Given the description of an element on the screen output the (x, y) to click on. 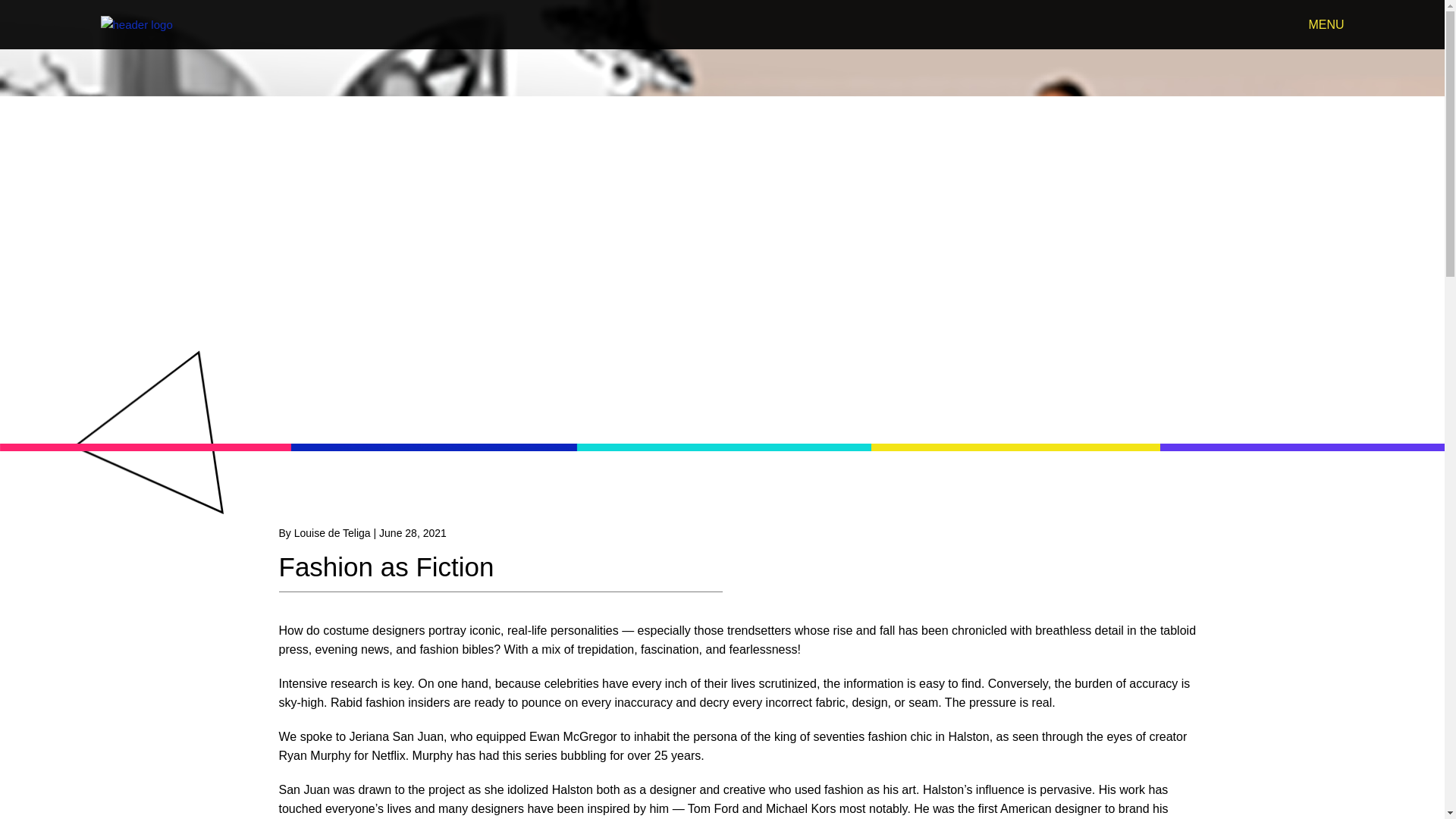
MENU (1325, 24)
